Given the description of an element on the screen output the (x, y) to click on. 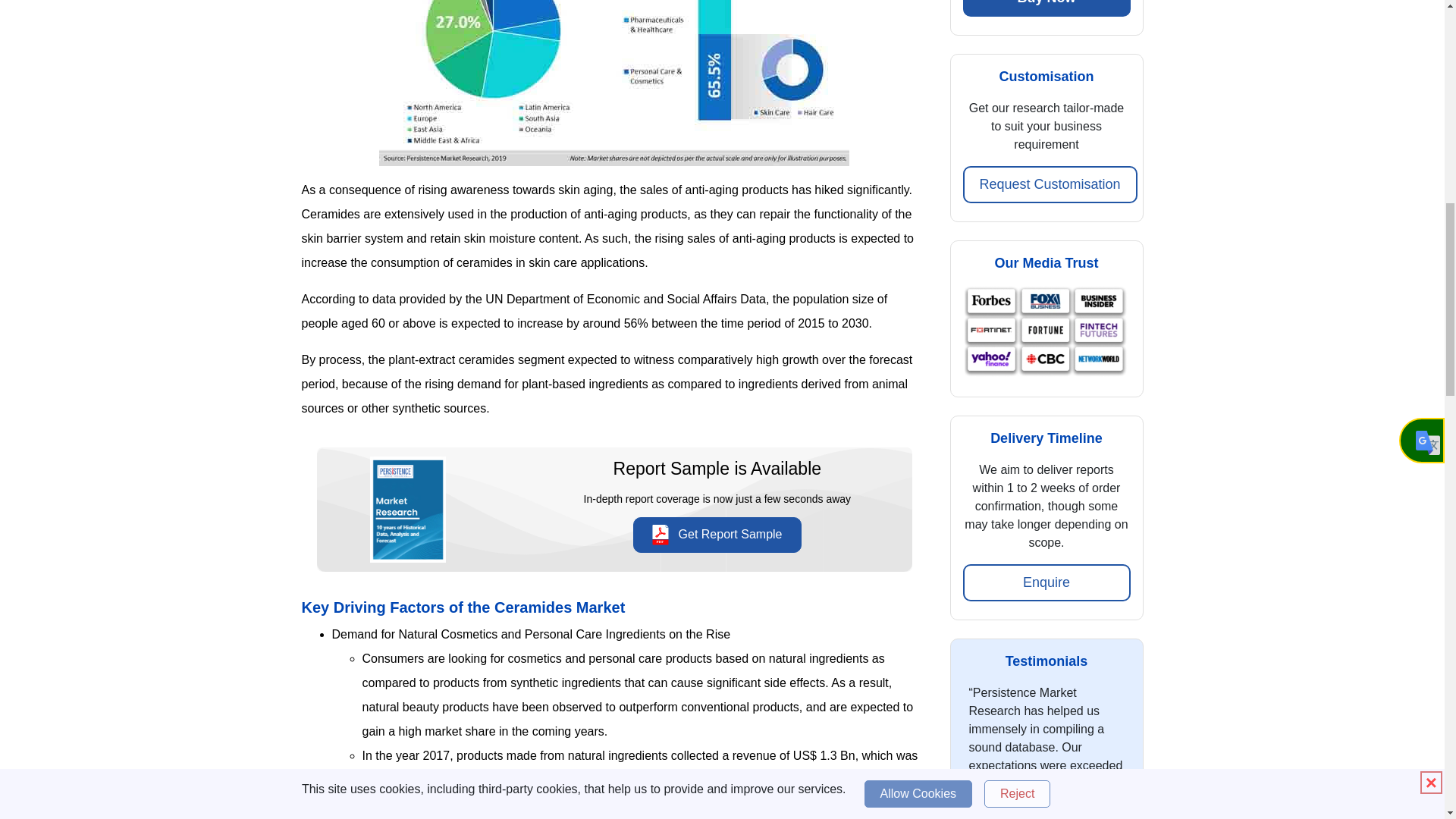
Buy Now (1046, 8)
Enquire (1046, 582)
Request Customisation (1049, 184)
Get Report Sample (716, 534)
